Given the description of an element on the screen output the (x, y) to click on. 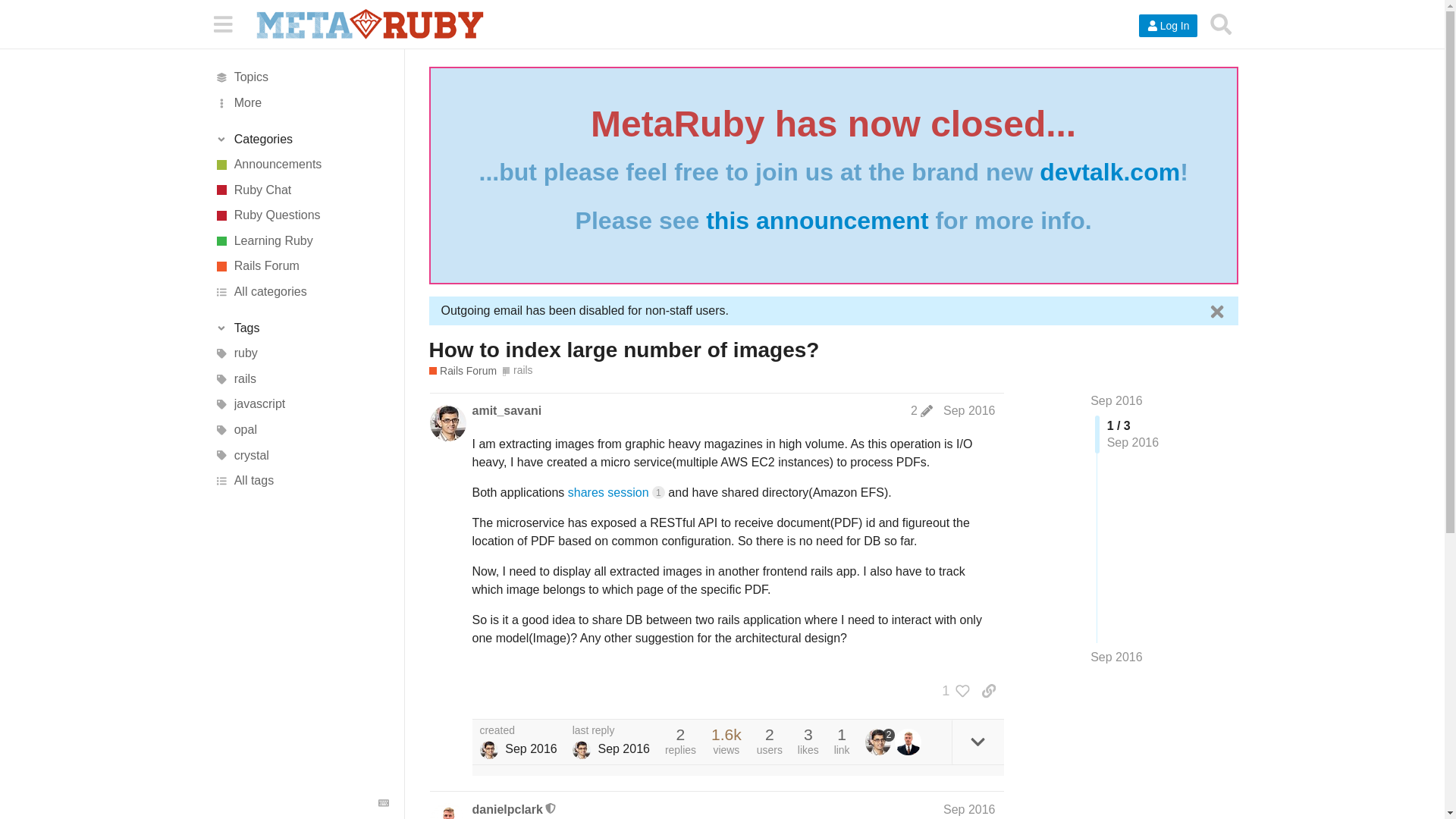
Chat about Ruby on Rails (301, 266)
opal (301, 429)
General Ruby Forum. (301, 190)
Sep 2016 (1116, 400)
Topics (301, 77)
Sidebar (222, 23)
this announcement (817, 220)
Chat about Ruby on Rails (463, 370)
crystal (301, 455)
How to index large number of images? (624, 349)
Stuck with some Ruby code? Ask here! (301, 216)
Sep 2016 (969, 410)
devtalk.com (1109, 171)
Learning Ruby (301, 240)
All topics (301, 77)
